Given the description of an element on the screen output the (x, y) to click on. 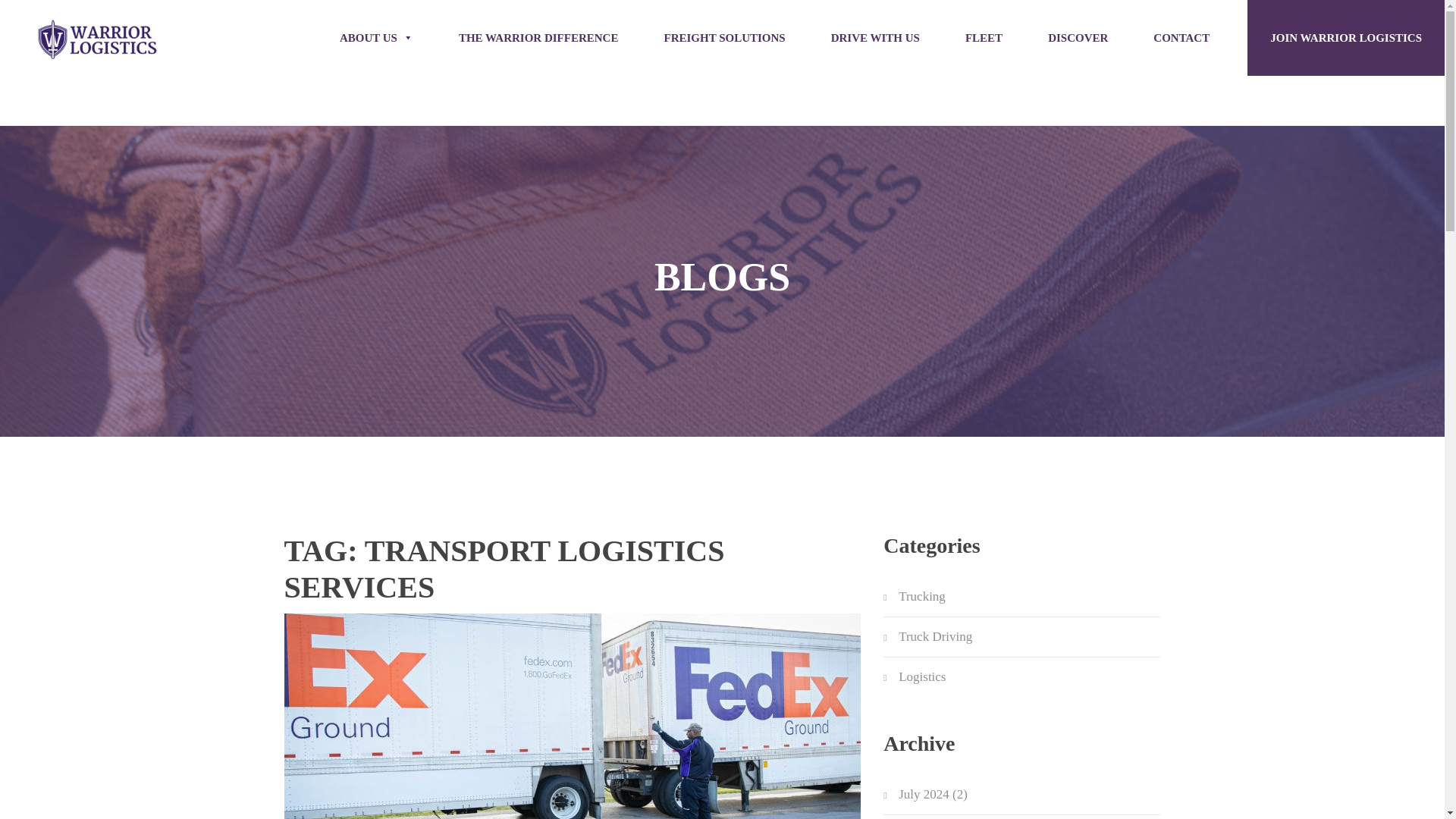
DISCOVER (1078, 37)
Truck Driving (935, 636)
Logistics (921, 676)
July 2024 (923, 794)
FREIGHT SOLUTIONS (724, 37)
CONTACT (1181, 37)
FLEET (984, 37)
THE WARRIOR DIFFERENCE (538, 37)
Trucking (921, 596)
ABOUT US (375, 37)
DRIVE WITH US (875, 37)
